Given the description of an element on the screen output the (x, y) to click on. 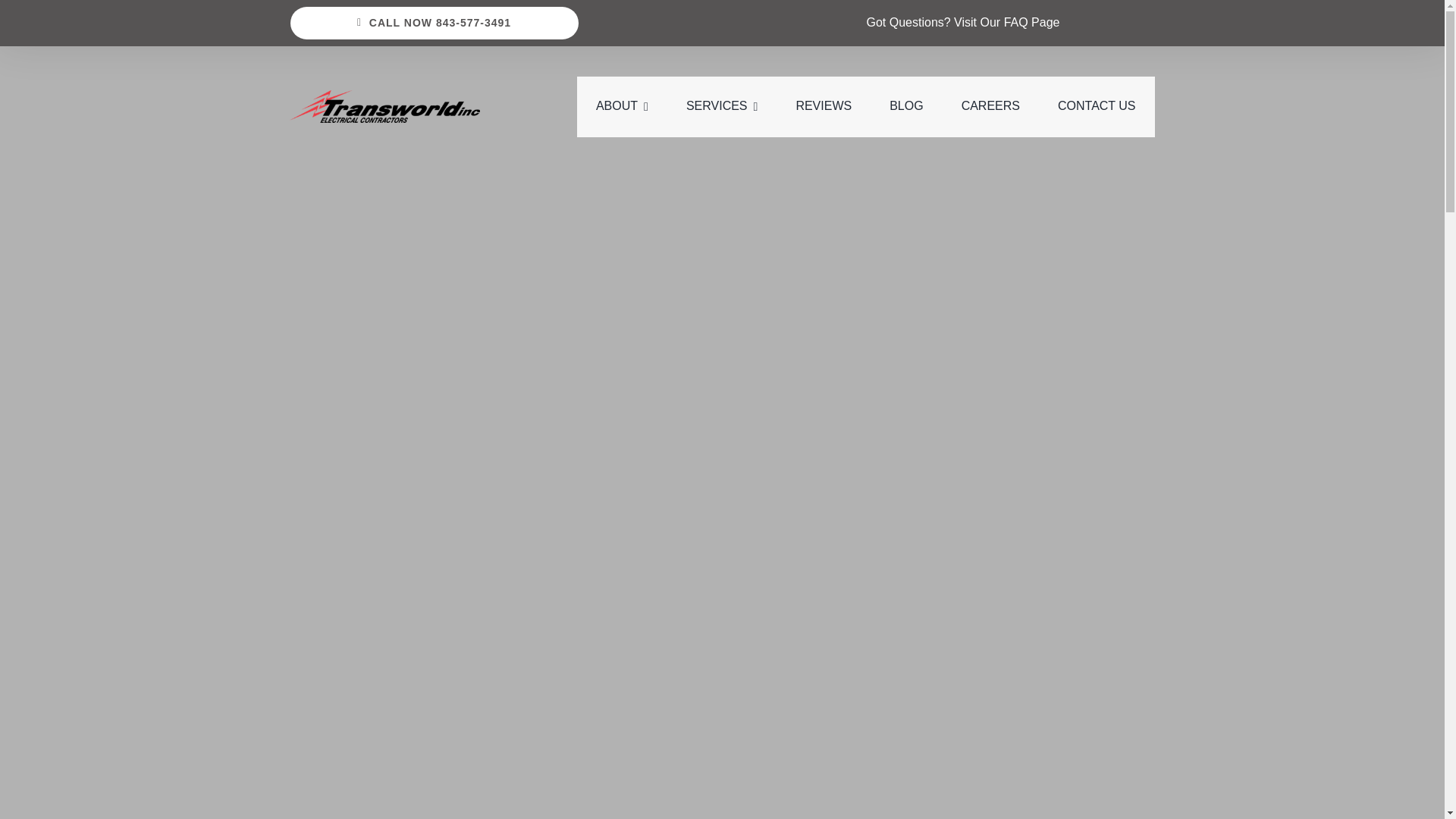
BLOG (906, 106)
REVIEWS (823, 106)
Transworld Electrical Contractors Logo (384, 106)
ABOUT (621, 106)
SERVICES (721, 106)
FAQ Page (1031, 21)
CONTACT US (1096, 106)
CALL NOW 843-577-3491 (433, 22)
CAREERS (990, 106)
